Given the description of an element on the screen output the (x, y) to click on. 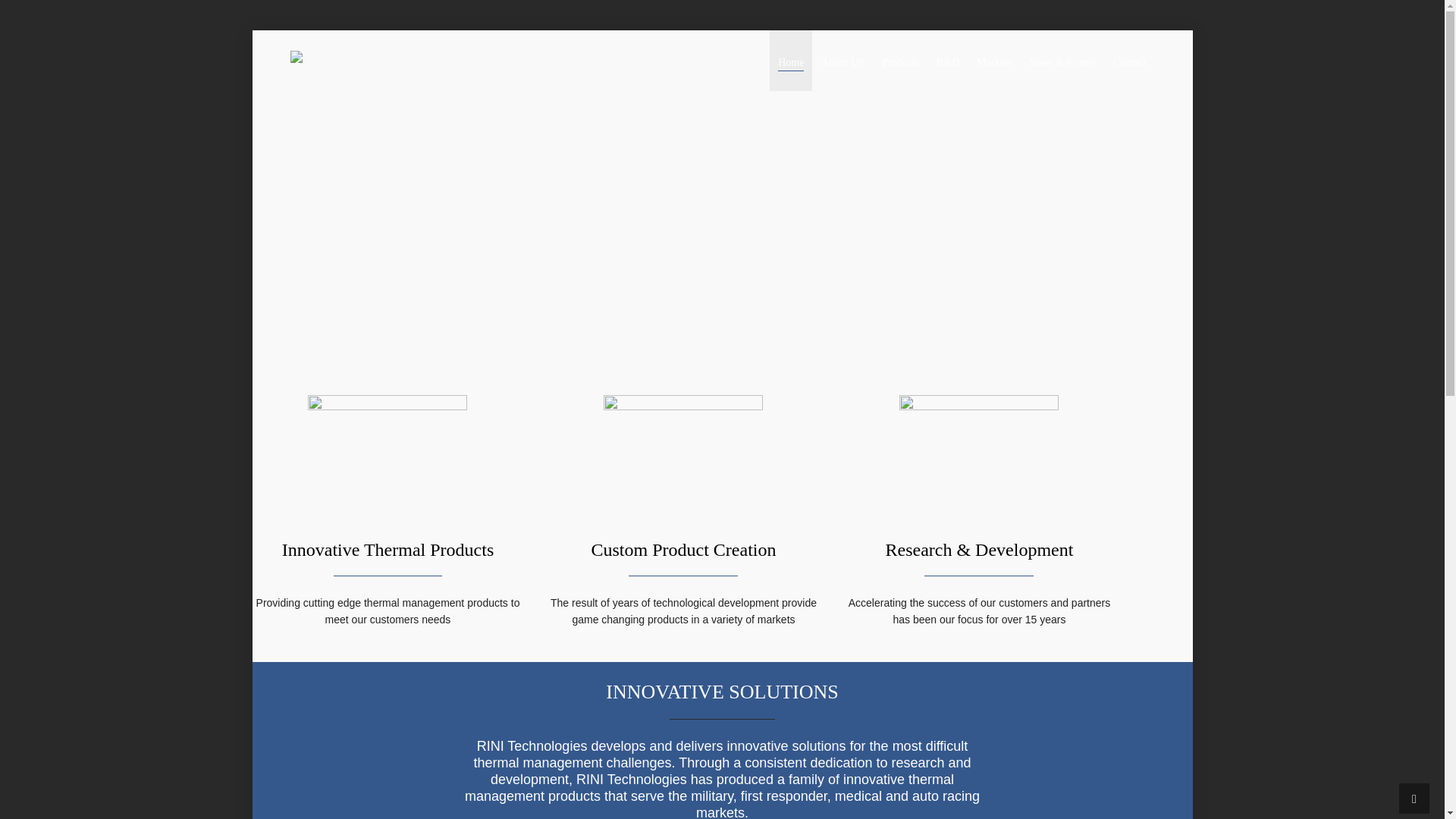
About US (842, 60)
